Given the description of an element on the screen output the (x, y) to click on. 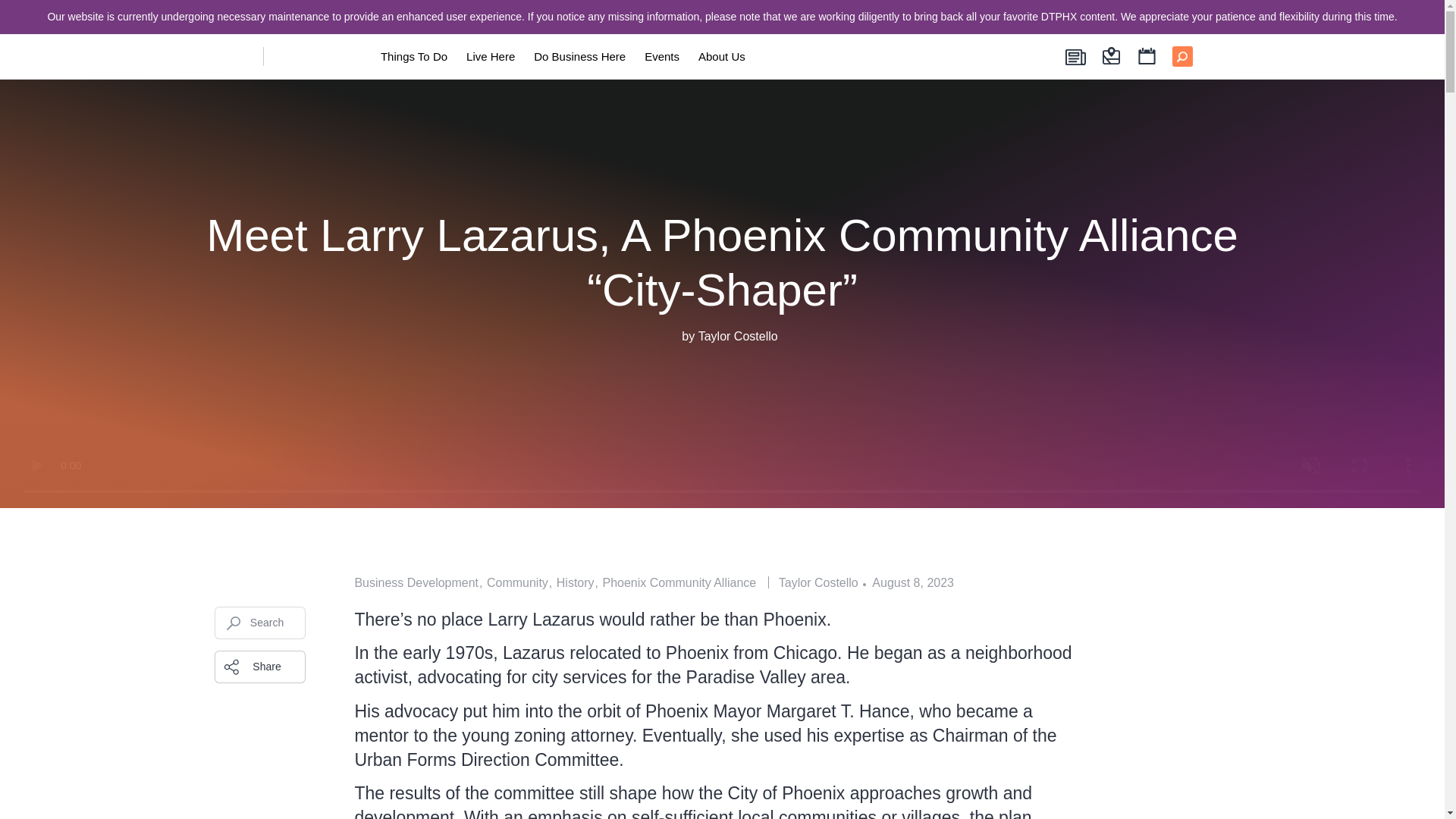
Events (661, 56)
Things To Do (414, 56)
About Us (721, 56)
Search (259, 622)
Do Business Here (578, 56)
Live Here (490, 56)
